Given the description of an element on the screen output the (x, y) to click on. 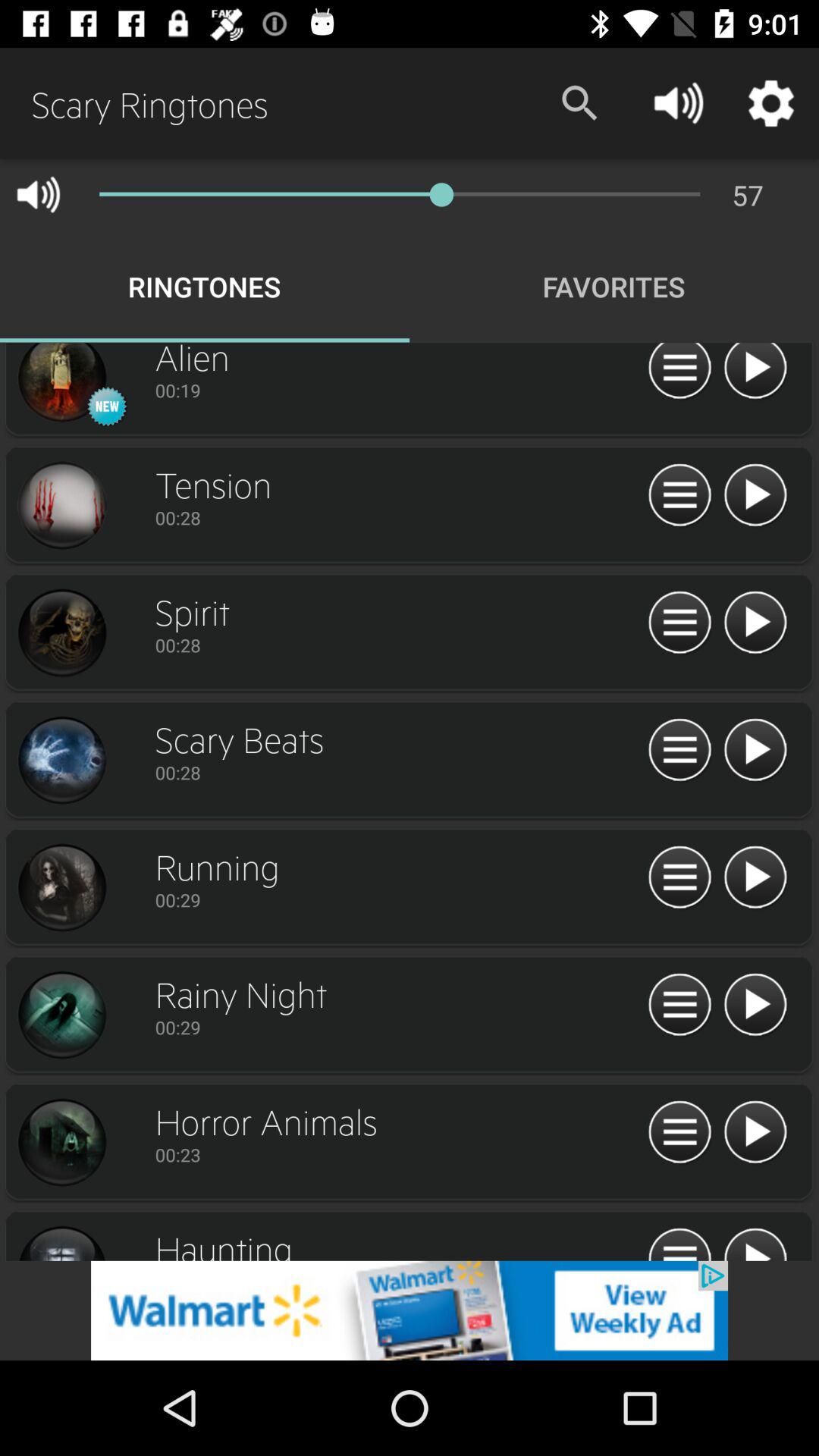
play audio (755, 1242)
